Given the description of an element on the screen output the (x, y) to click on. 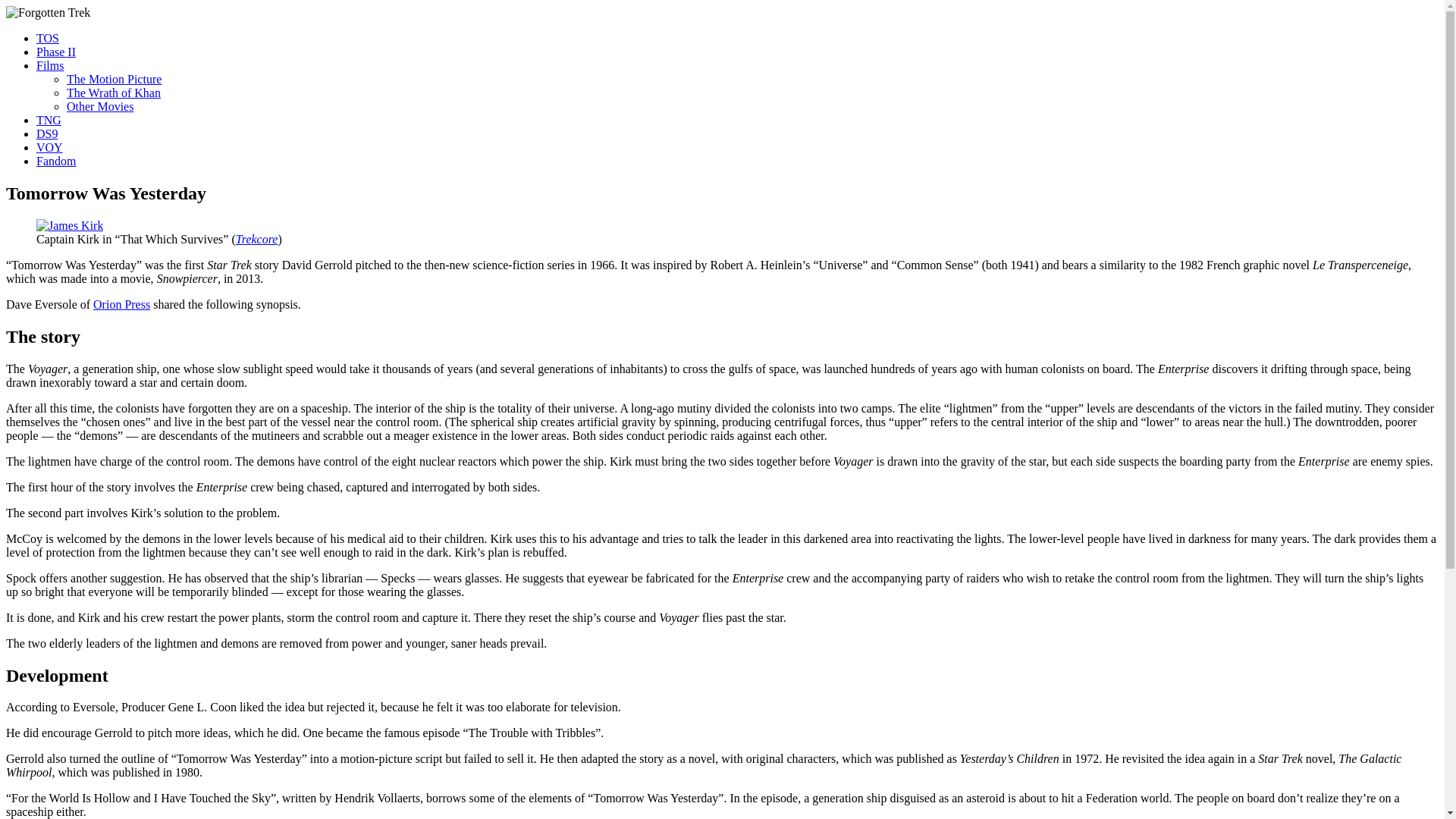
DS9 (47, 133)
TNG (48, 119)
Phase II (55, 51)
Films (50, 65)
VOY (49, 146)
Trekcore (256, 238)
The Motion Picture (113, 78)
Orion Press (121, 304)
The Wrath of Khan (113, 92)
TOS (47, 38)
Other Movies (99, 106)
Fandom (55, 160)
